Given the description of an element on the screen output the (x, y) to click on. 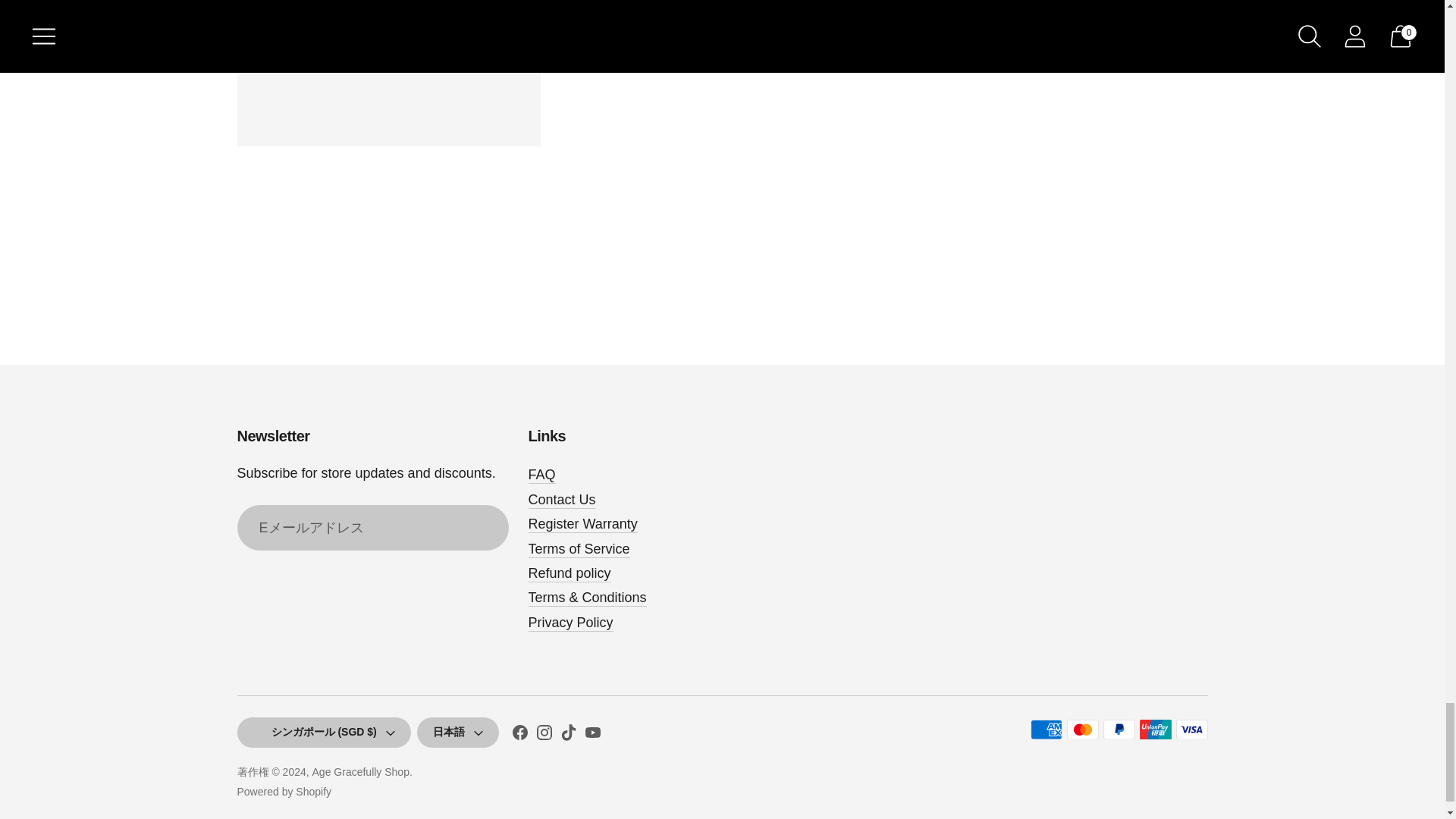
Visa (1190, 729)
American Express (1045, 729)
Union Pay (1154, 729)
PayPal (1118, 729)
Mastercard (1081, 729)
